Given the description of an element on the screen output the (x, y) to click on. 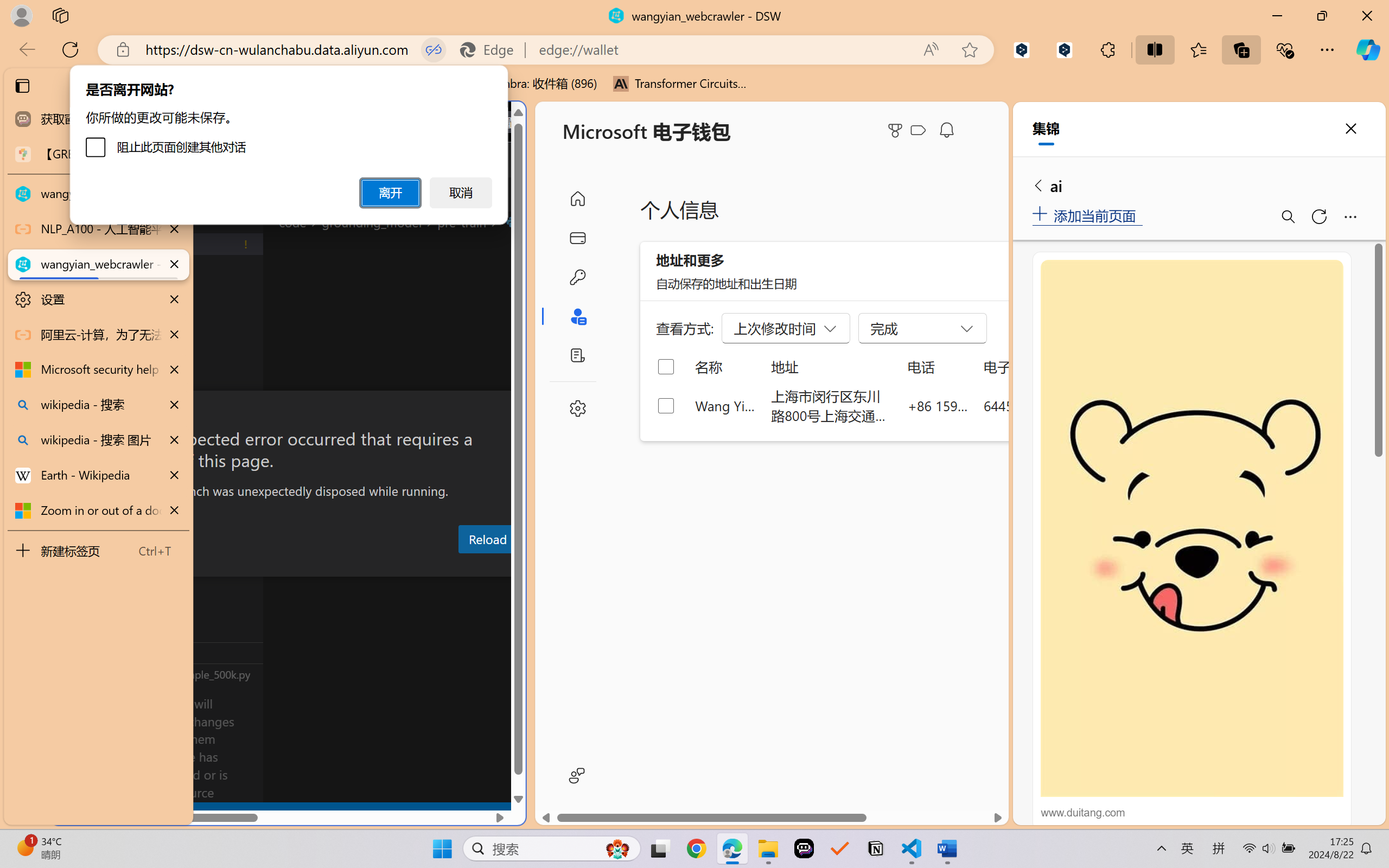
Accounts - Sign in requested (73, 732)
Output (Ctrl+Shift+U) (377, 565)
Wang Yian (725, 405)
Class: actions-container (287, 410)
